Given the description of an element on the screen output the (x, y) to click on. 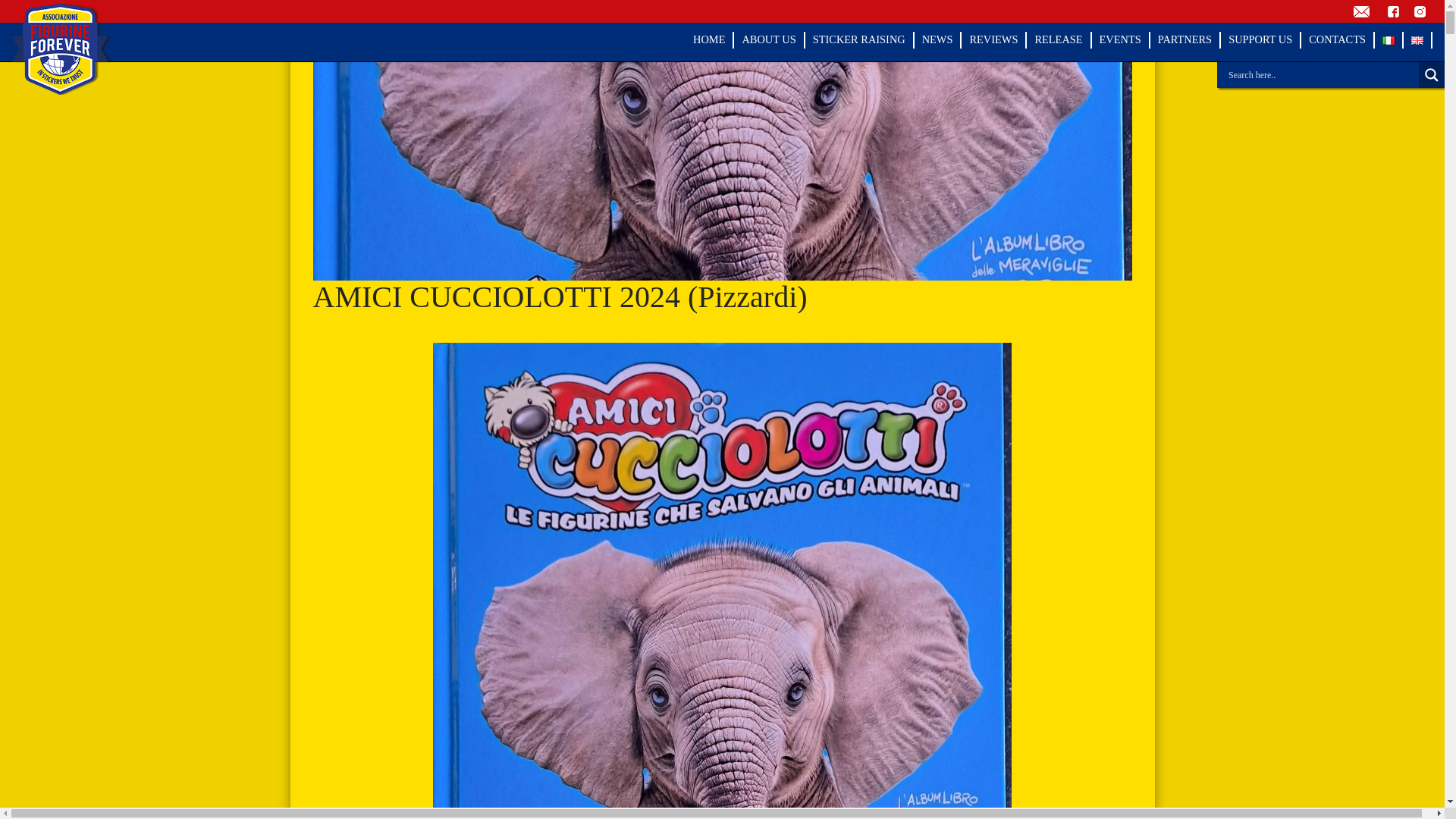
RELEASE (1057, 39)
NEWS (937, 39)
EVENTS (1120, 39)
PARTNERS (1184, 39)
CONTACTS (1336, 39)
STICKER RAISING (858, 39)
ABOUT US (767, 39)
REVIEWS (993, 39)
SUPPORT US (1260, 39)
HOME (709, 39)
